Given the description of an element on the screen output the (x, y) to click on. 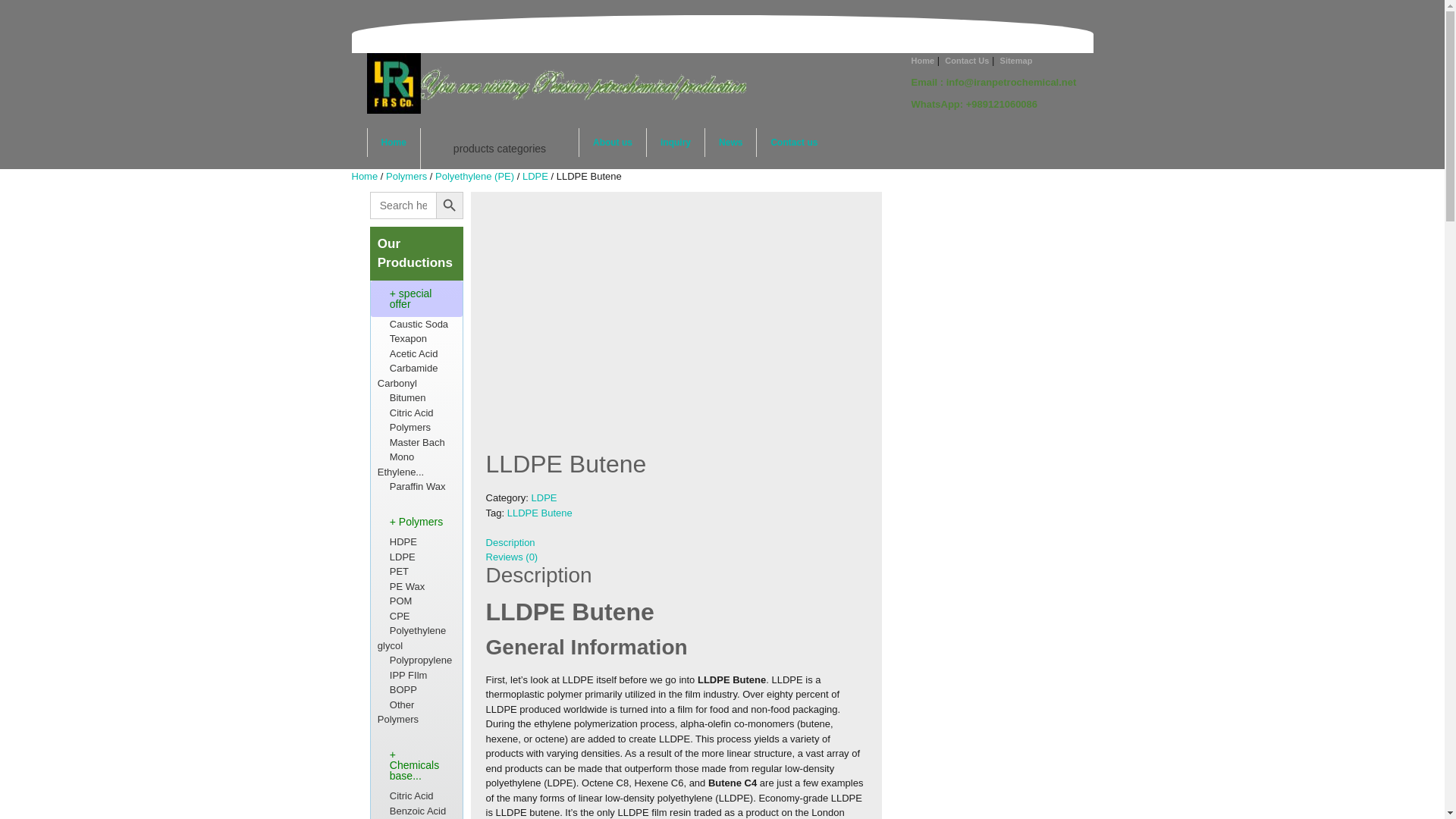
Home (922, 60)
Texapon (401, 337)
Home (393, 142)
Sitemap (1016, 60)
Contact Us (966, 60)
LDPE (535, 175)
News (730, 142)
HDPE (396, 541)
Caustic Soda (412, 324)
inquiry (675, 142)
